Given the description of an element on the screen output the (x, y) to click on. 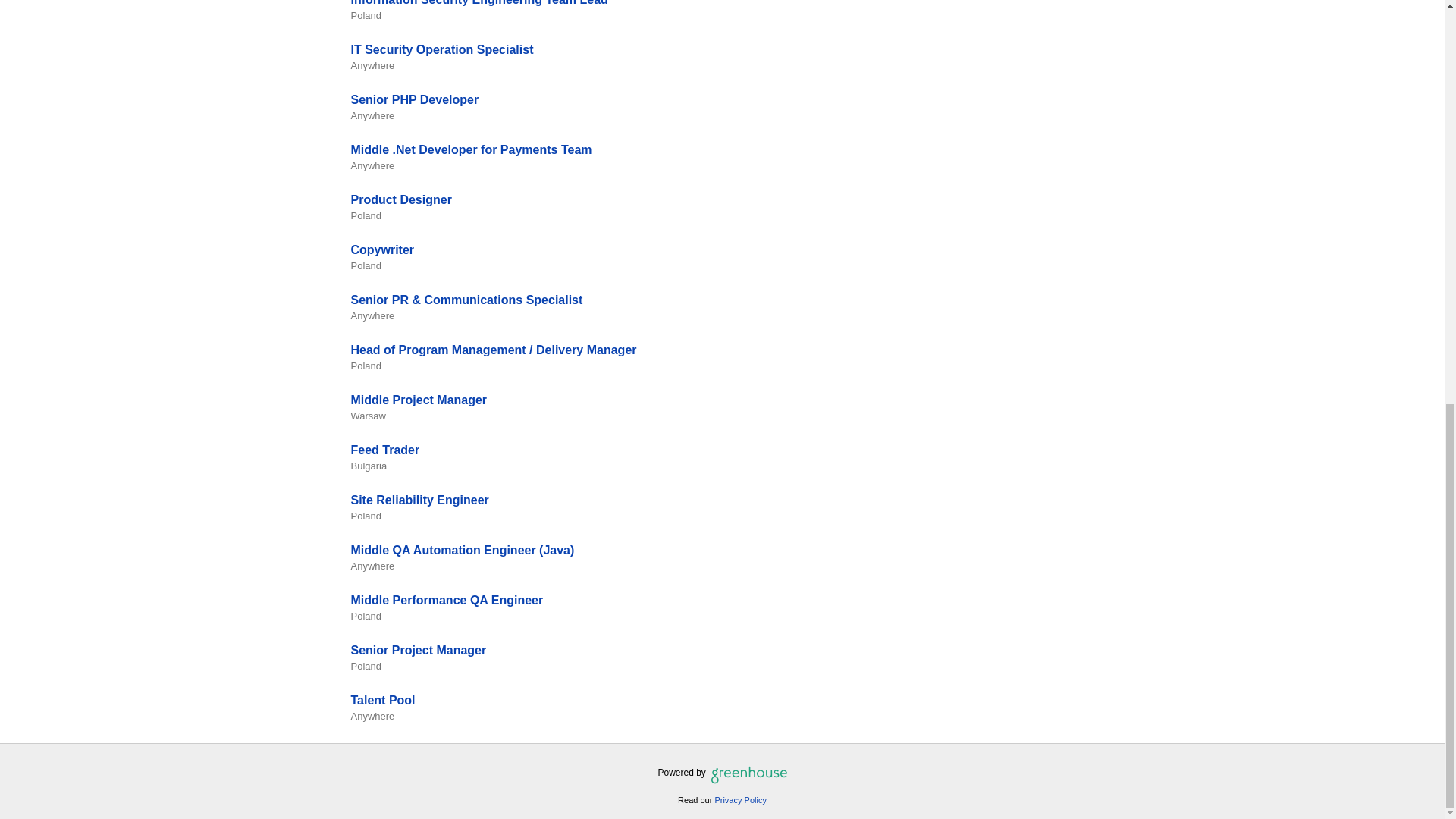
Middle .Net Developer for Payments Team (470, 149)
Product Designer (400, 199)
Talent Pool (382, 699)
Information Security Engineering Team Lead (478, 2)
Feed Trader (384, 449)
Privacy Policy (739, 799)
Middle Performance QA Engineer (446, 599)
Copywriter (381, 249)
IT Security Operation Specialist (441, 49)
Middle Project Manager (418, 399)
Senior Project Manager (418, 649)
Site Reliability Engineer (418, 499)
Senior PHP Developer (414, 99)
